Given the description of an element on the screen output the (x, y) to click on. 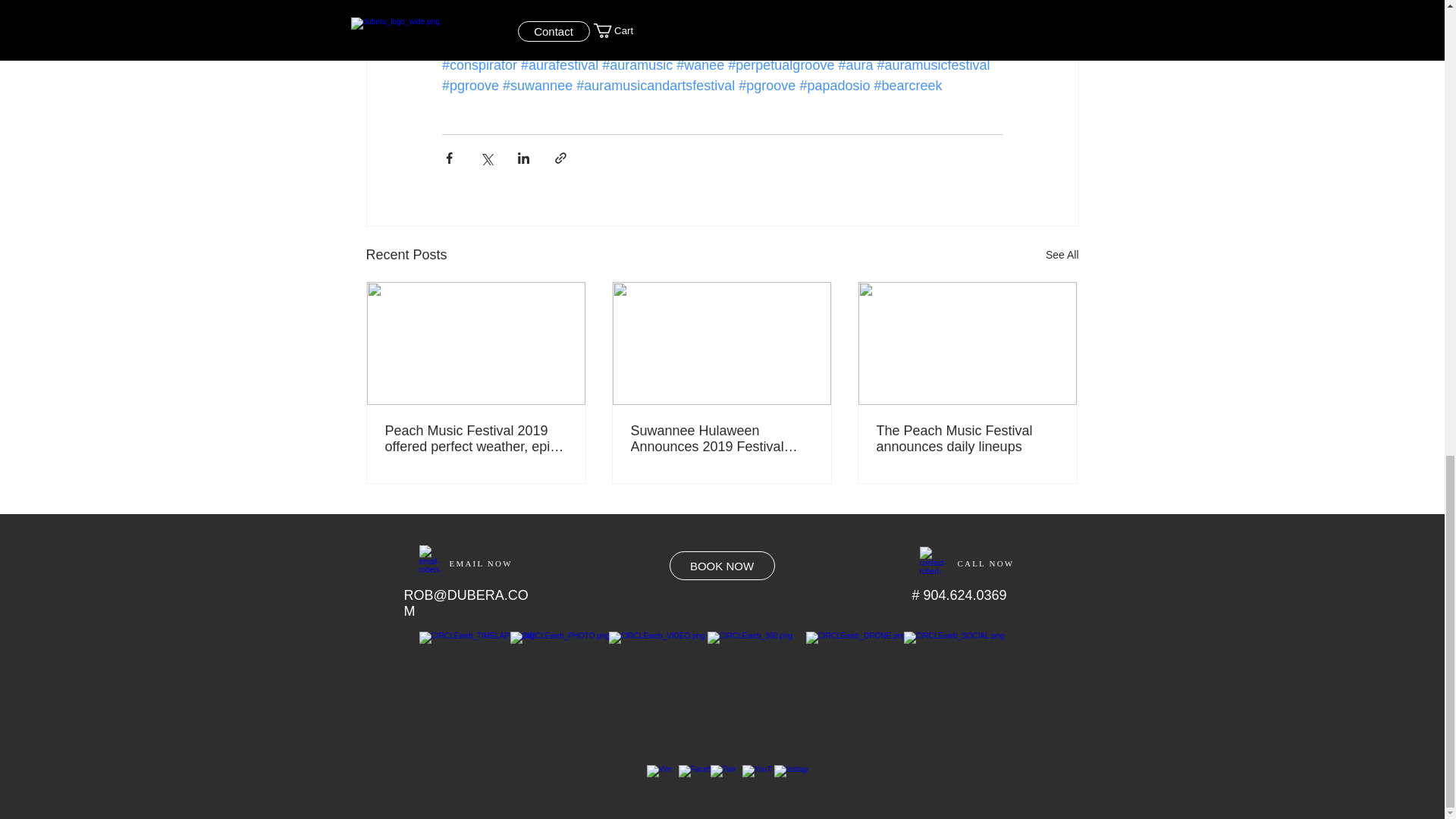
EMAIL NOW (480, 560)
See All (1061, 255)
The Peach Music Festival announces daily lineups (967, 439)
Suwannee Hulaween Announces 2019 Festival Lineup! (721, 439)
CALL NOW (984, 563)
BOOK NOW (721, 565)
